Given the description of an element on the screen output the (x, y) to click on. 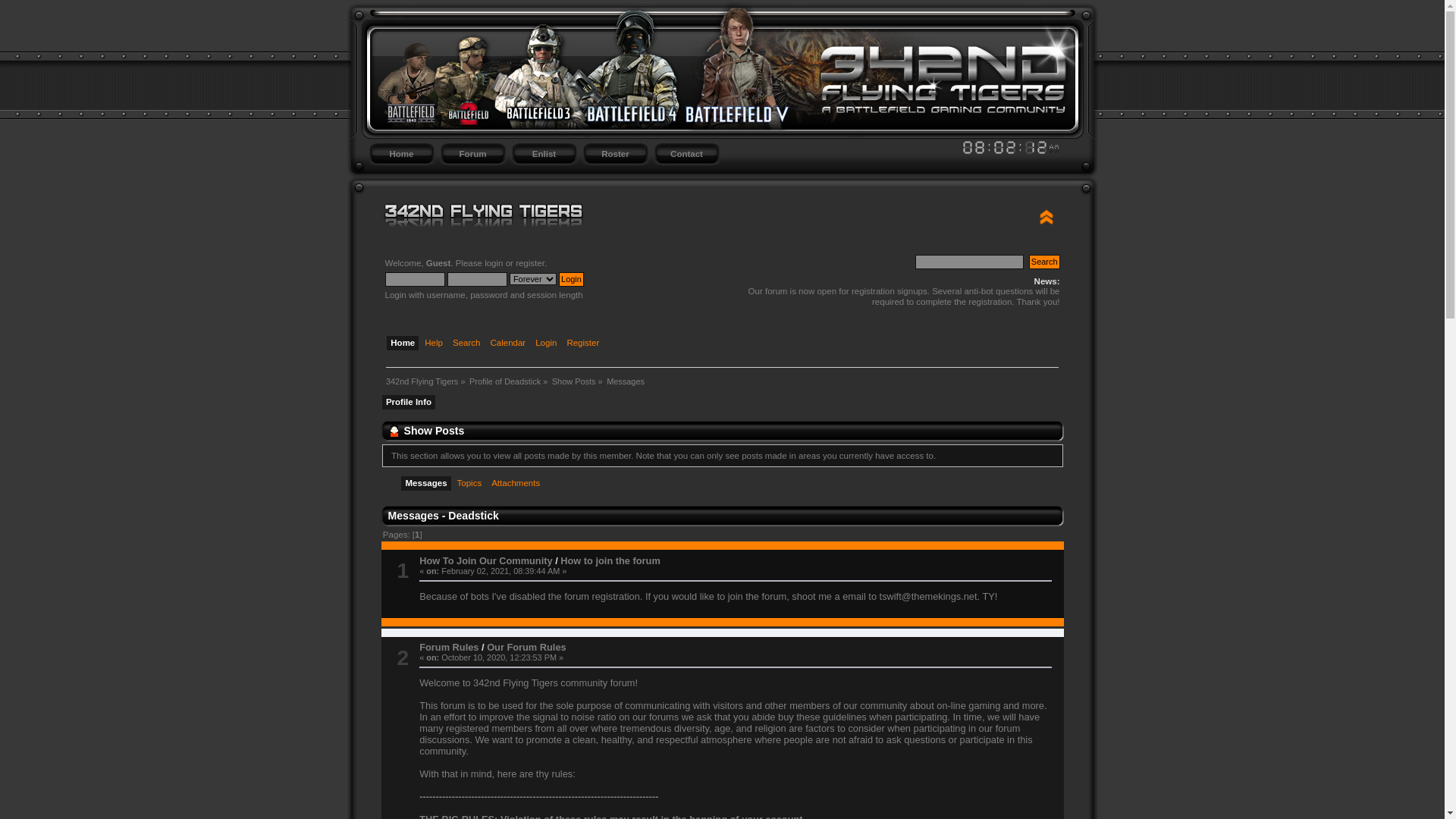
Profile of Deadstick Element type: text (504, 380)
Register Element type: text (584, 343)
Forum Rules Element type: text (448, 646)
Roster Element type: text (614, 154)
Attachments Element type: text (517, 484)
Our Forum Rules Element type: text (526, 646)
Simple Machines Forum Element type: hover (931, 212)
Login Element type: text (570, 279)
342nd Flying Tigers Element type: text (421, 380)
Help Element type: text (435, 343)
Calendar Element type: text (509, 343)
Home Element type: text (404, 343)
Contact Element type: text (686, 154)
How to join the forum Element type: text (610, 560)
Profile Info Element type: text (410, 403)
Login Element type: text (547, 343)
Search Element type: text (1044, 261)
Home Element type: text (401, 154)
Messages Element type: text (625, 380)
Forum Element type: text (472, 154)
login Element type: text (493, 262)
Show Posts Element type: text (574, 380)
Enlist Element type: text (543, 154)
Shrink or expand the header. Element type: hover (1046, 216)
register Element type: text (529, 262)
How To Join Our Community Element type: text (485, 560)
Search Element type: text (468, 343)
Messages Element type: text (427, 484)
Topics Element type: text (471, 484)
